Given the description of an element on the screen output the (x, y) to click on. 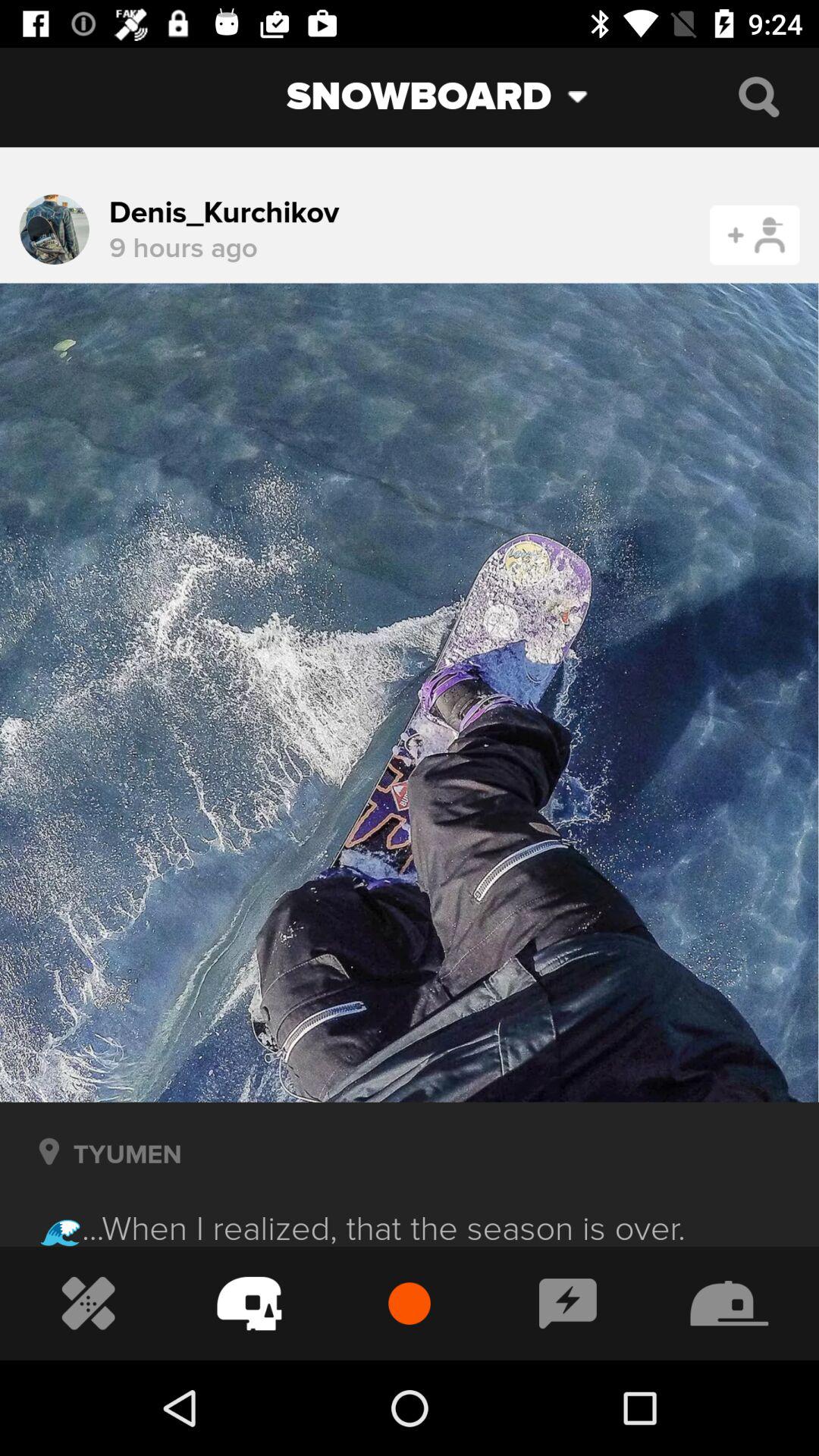
click on the second icon in the bottom menu bar (249, 1303)
